Given the description of an element on the screen output the (x, y) to click on. 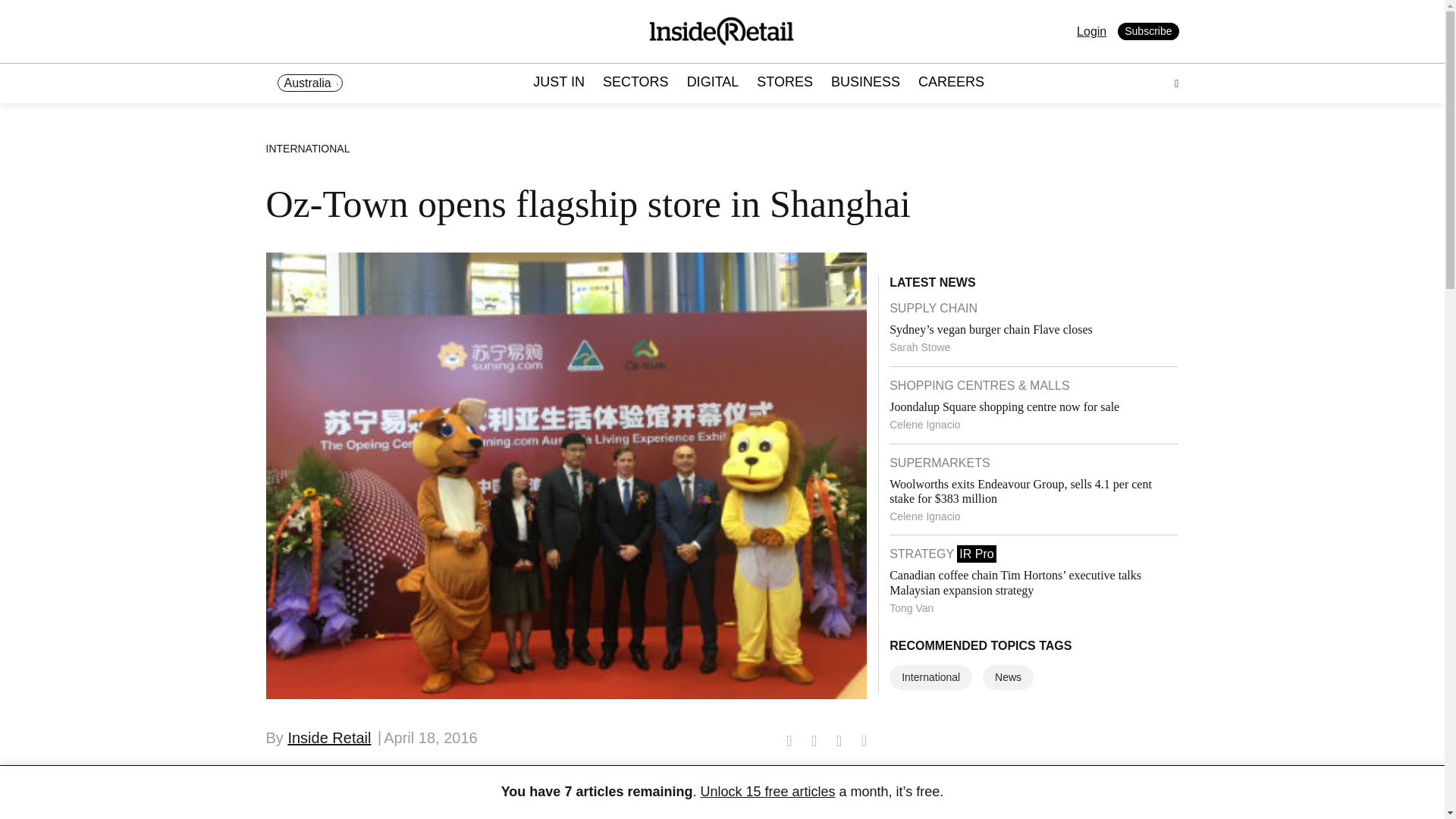
Login (1091, 31)
Australia (310, 82)
Subscribe (1147, 31)
SECTORS (635, 83)
News (1007, 677)
DIGITAL (712, 83)
International (930, 677)
JUST IN (558, 83)
